Given the description of an element on the screen output the (x, y) to click on. 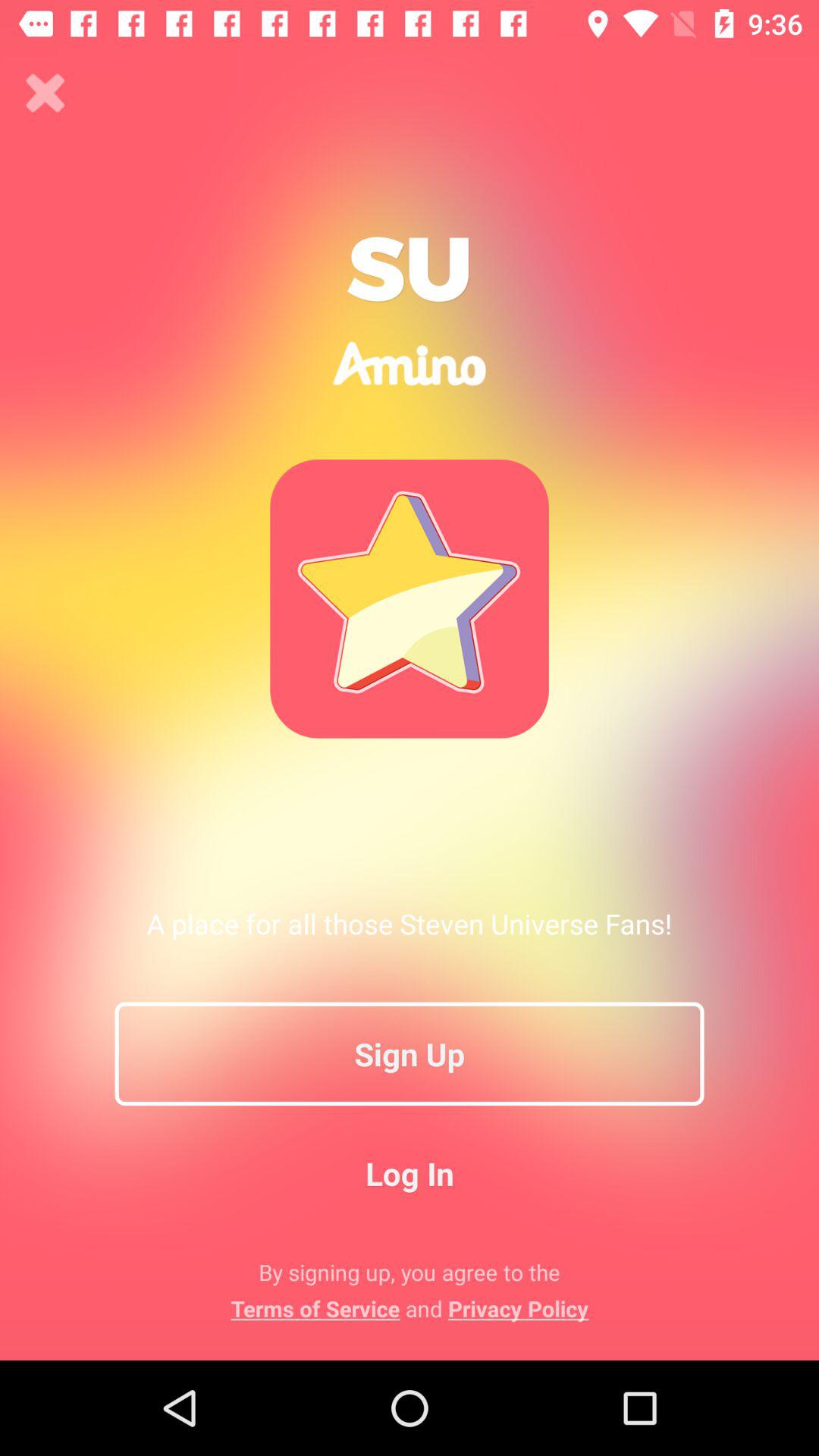
close window (45, 93)
